Given the description of an element on the screen output the (x, y) to click on. 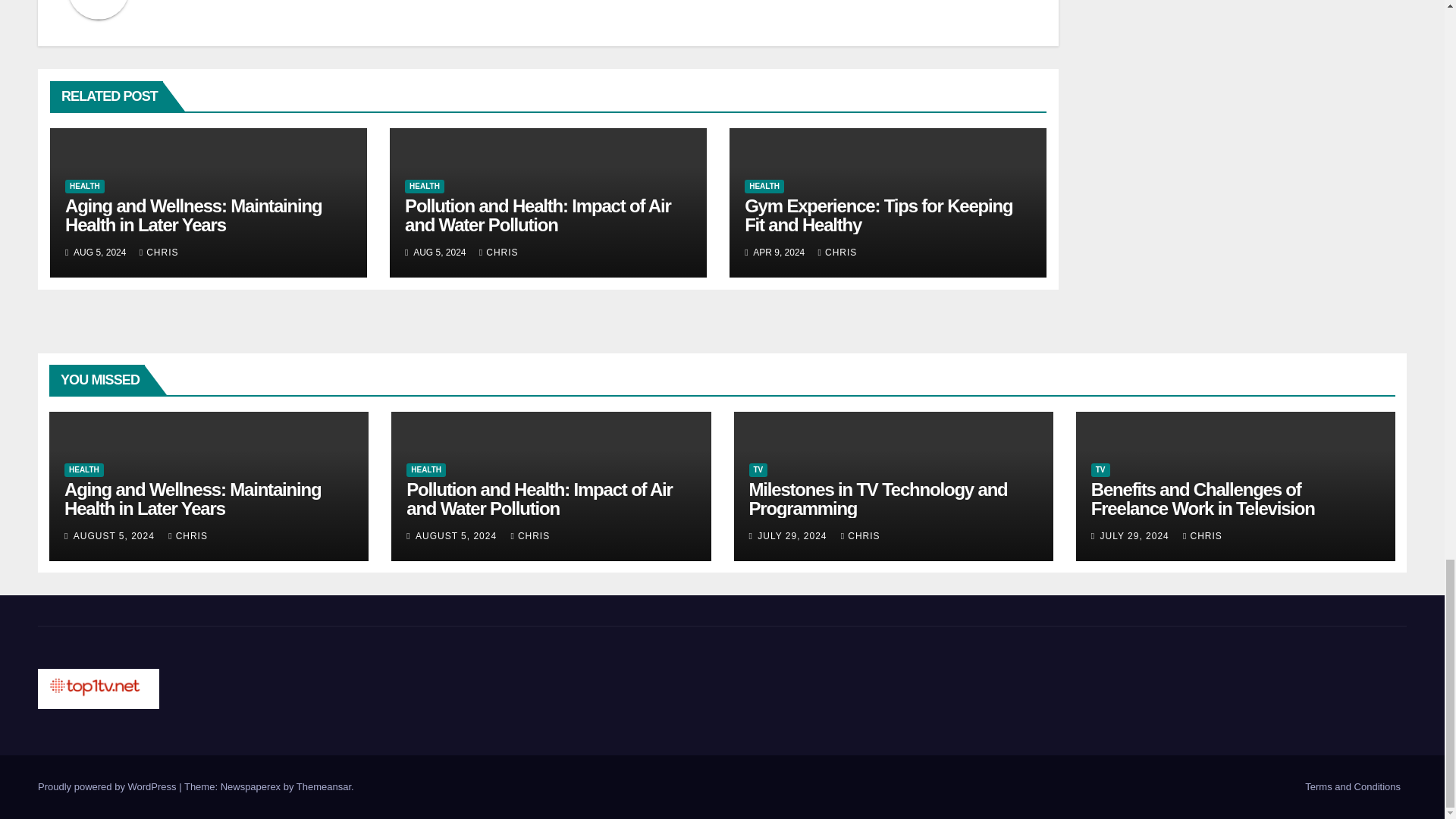
HEALTH (84, 186)
HEALTH (424, 186)
Pollution and Health: Impact of Air and Water Pollution (536, 215)
Terms and Conditions (1352, 786)
Permalink to: Milestones in TV Technology and Programming (878, 498)
Aging and Wellness: Maintaining Health in Later Years (193, 215)
CHRIS (159, 252)
